Given the description of an element on the screen output the (x, y) to click on. 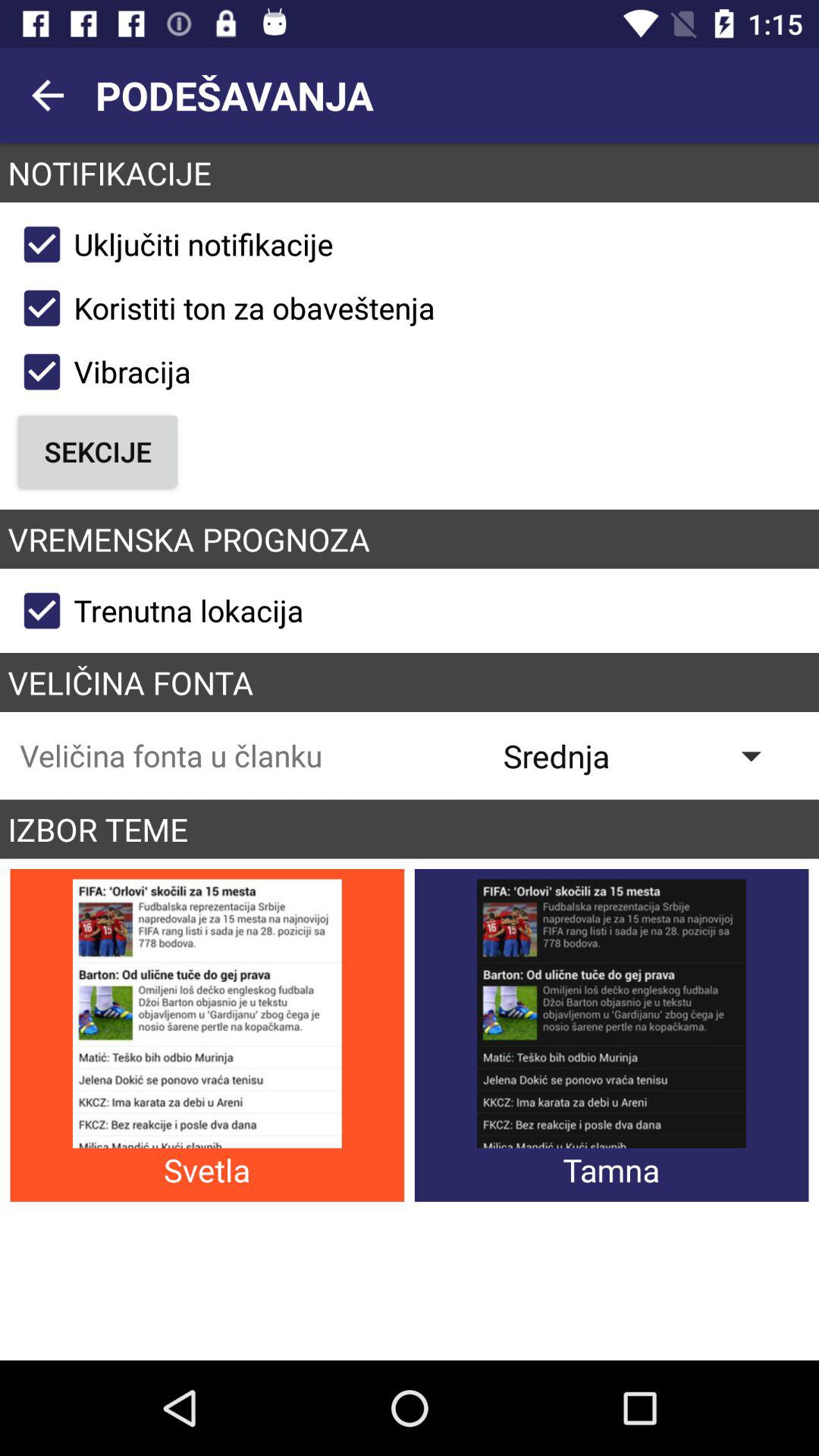
turn on item above the notifikacije app (47, 95)
